Given the description of an element on the screen output the (x, y) to click on. 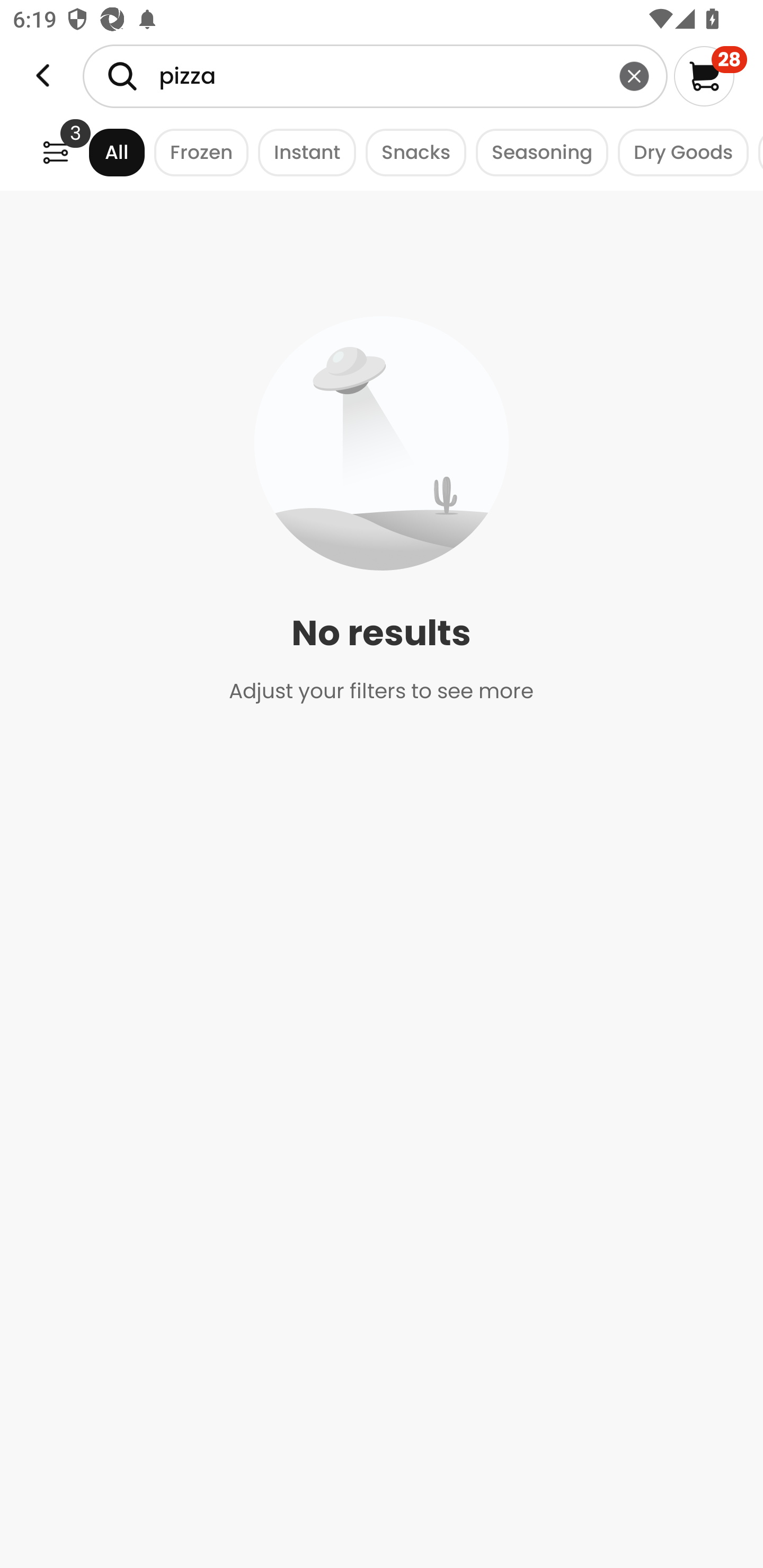
pizza (374, 75)
28 (709, 75)
Weee! (42, 76)
Weee! (55, 151)
All (99, 151)
Frozen (196, 151)
Instant (302, 151)
Snacks (411, 151)
Seasoning (537, 151)
Dry Goods (678, 151)
